Given the description of an element on the screen output the (x, y) to click on. 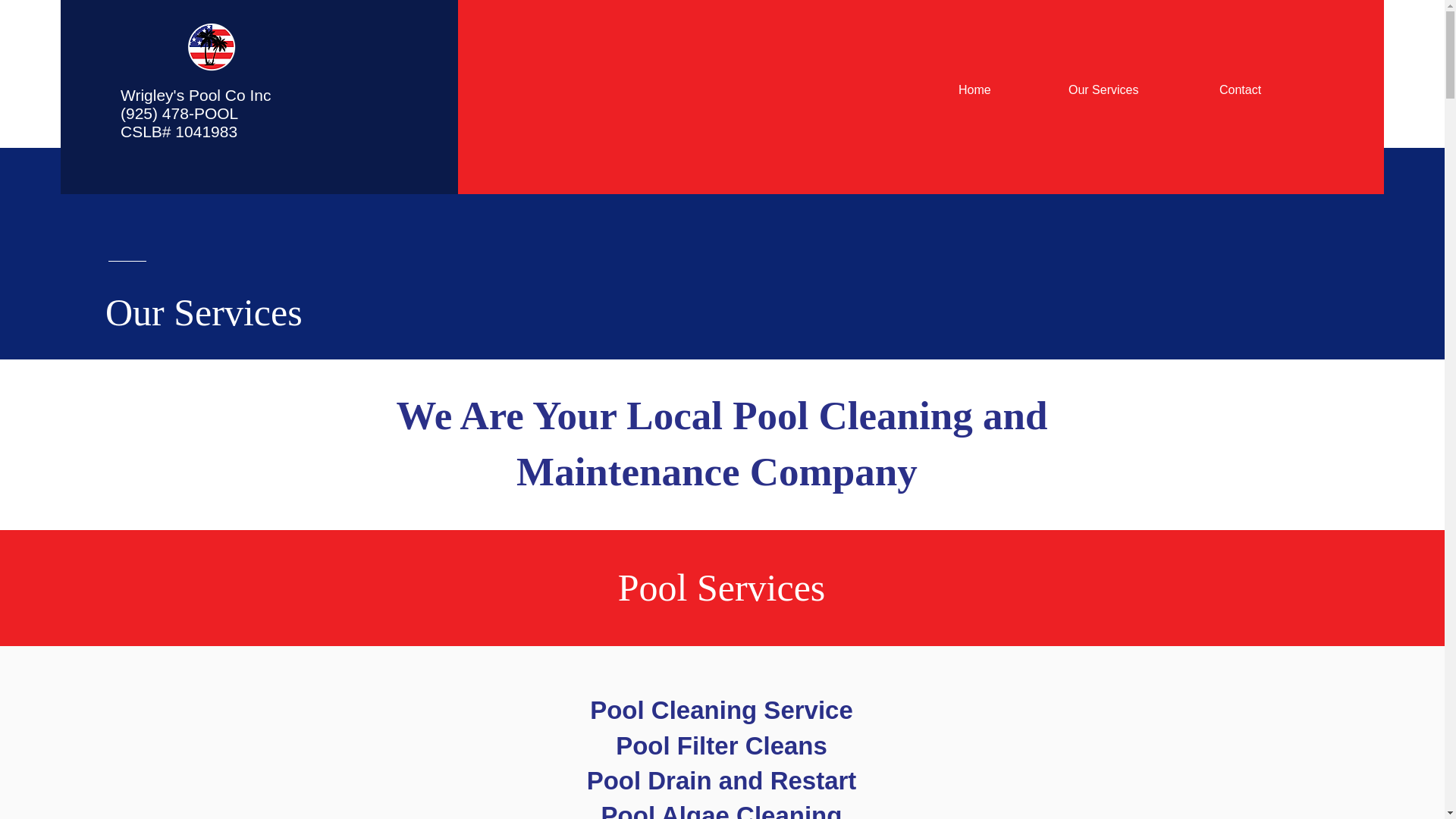
Contact (1269, 90)
Home (1002, 90)
Wrigley's Pool Co Inc (195, 95)
Wrigley's Pool Co.  (211, 47)
Our Services (1132, 90)
Pool Algae Cleaning (722, 810)
Pool Filter Cleans (721, 746)
Pool Drain and Restart (721, 780)
Pool Cleaning Service (721, 709)
